Given the description of an element on the screen output the (x, y) to click on. 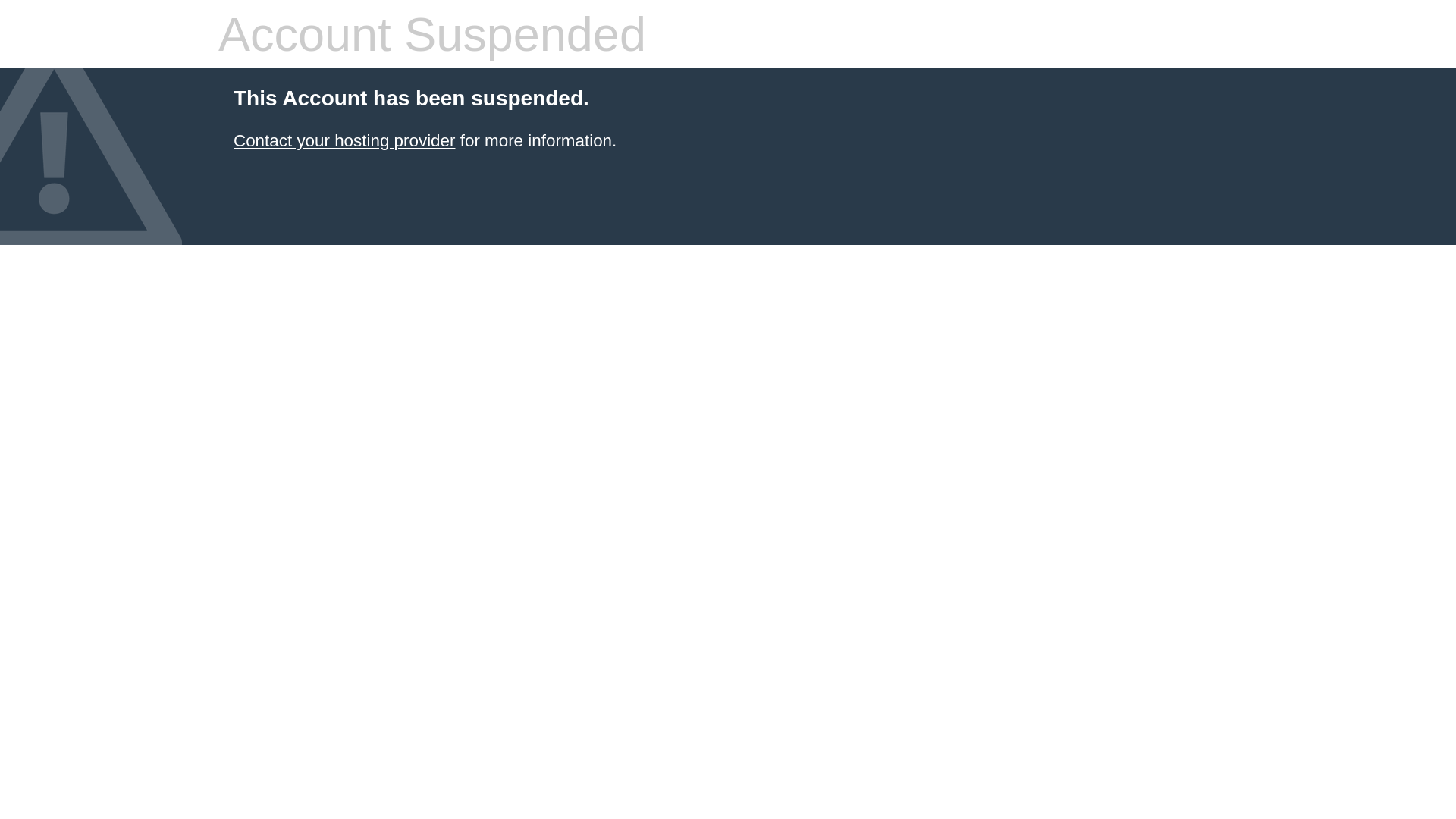
Contact your hosting provider Element type: text (344, 140)
